Given the description of an element on the screen output the (x, y) to click on. 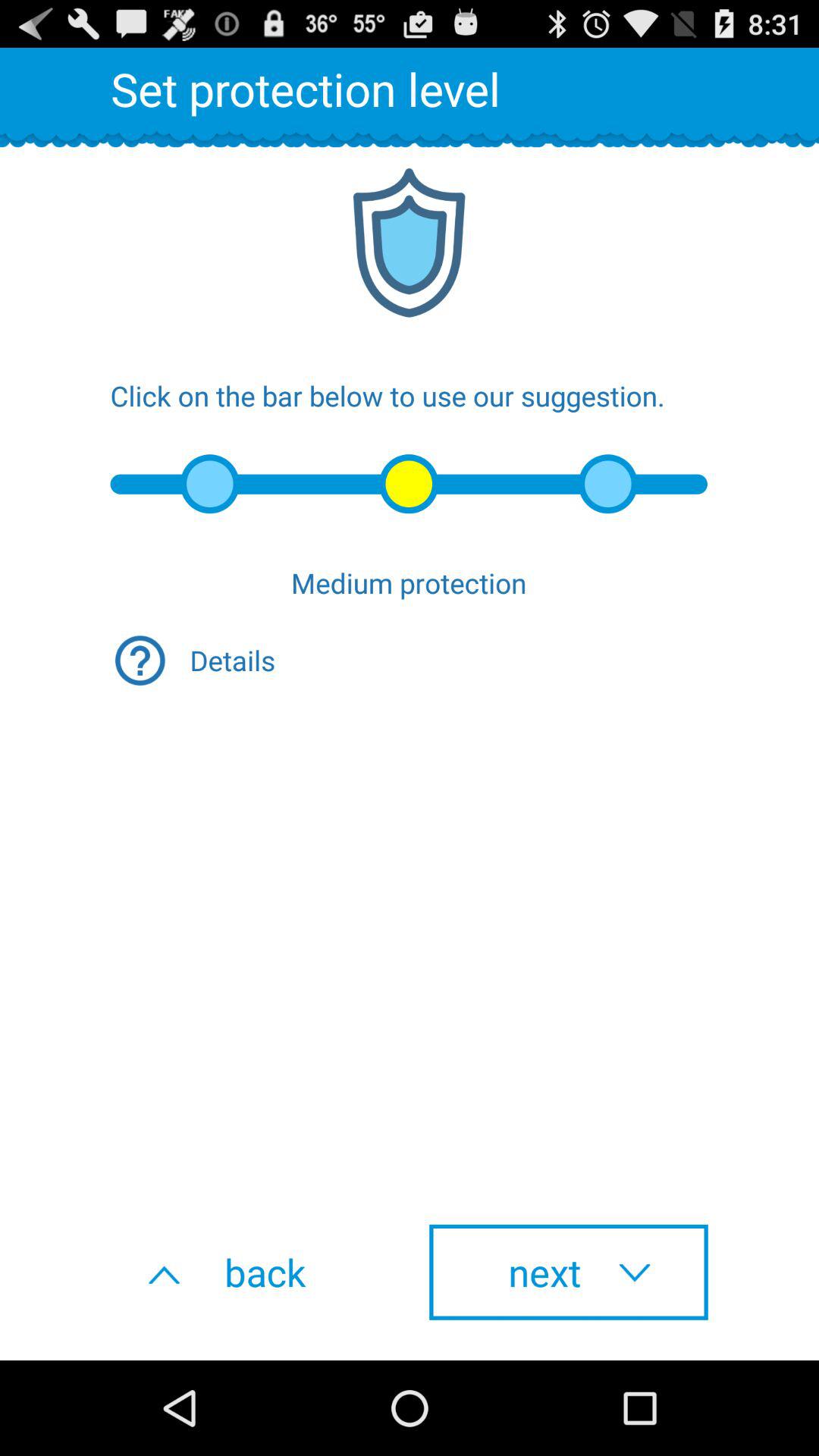
turn on next button (568, 1272)
